Given the description of an element on the screen output the (x, y) to click on. 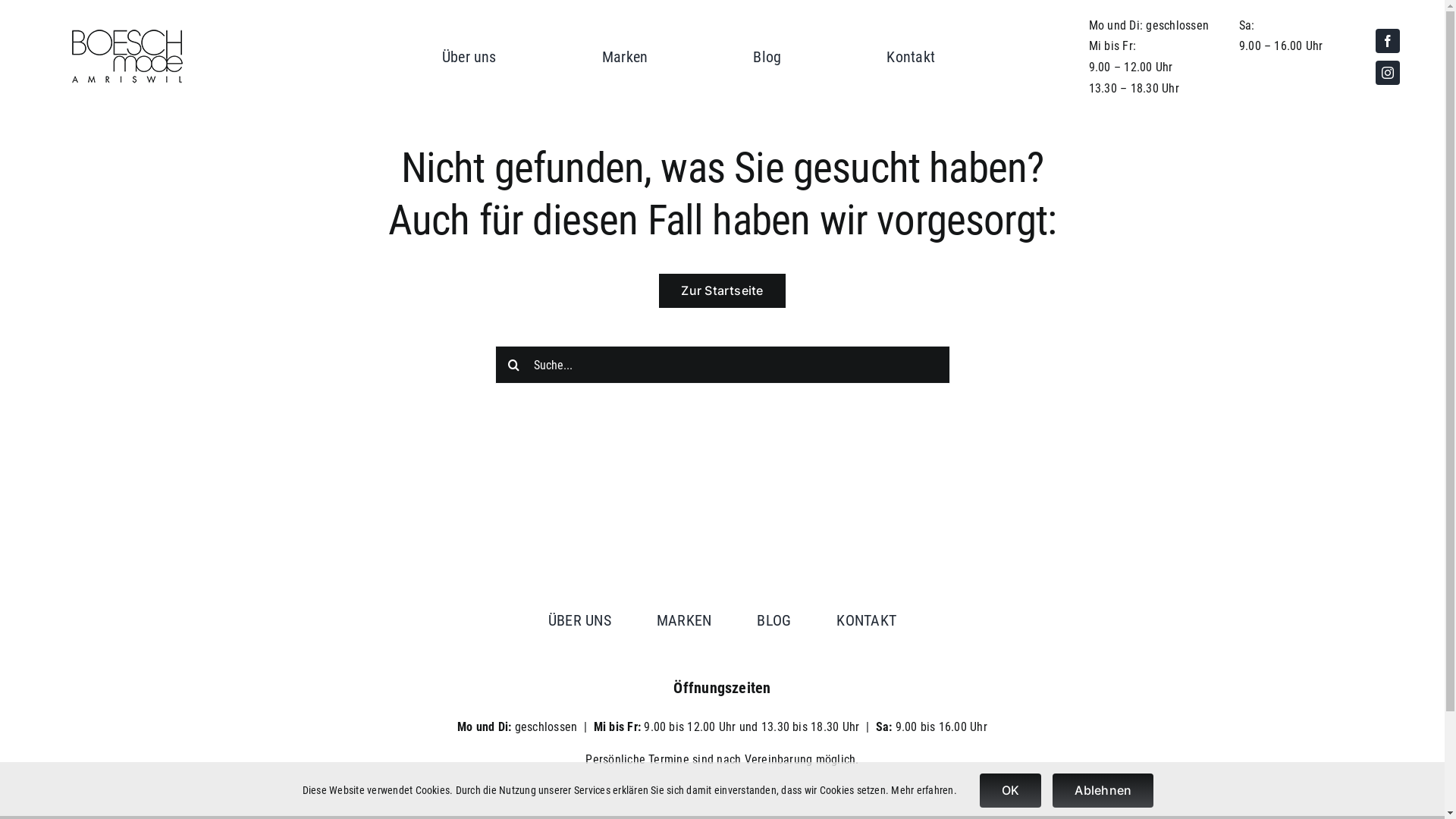
Blog Element type: text (766, 56)
BLOG Element type: text (773, 620)
Marken Element type: text (624, 56)
Kontakt Element type: text (910, 56)
OK Element type: text (1010, 790)
Zur Startseite Element type: text (721, 290)
Ablehnen Element type: text (1102, 790)
KONTAKT Element type: text (866, 620)
MARKEN Element type: text (683, 620)
Mehr erfahren Element type: text (922, 790)
